Given the description of an element on the screen output the (x, y) to click on. 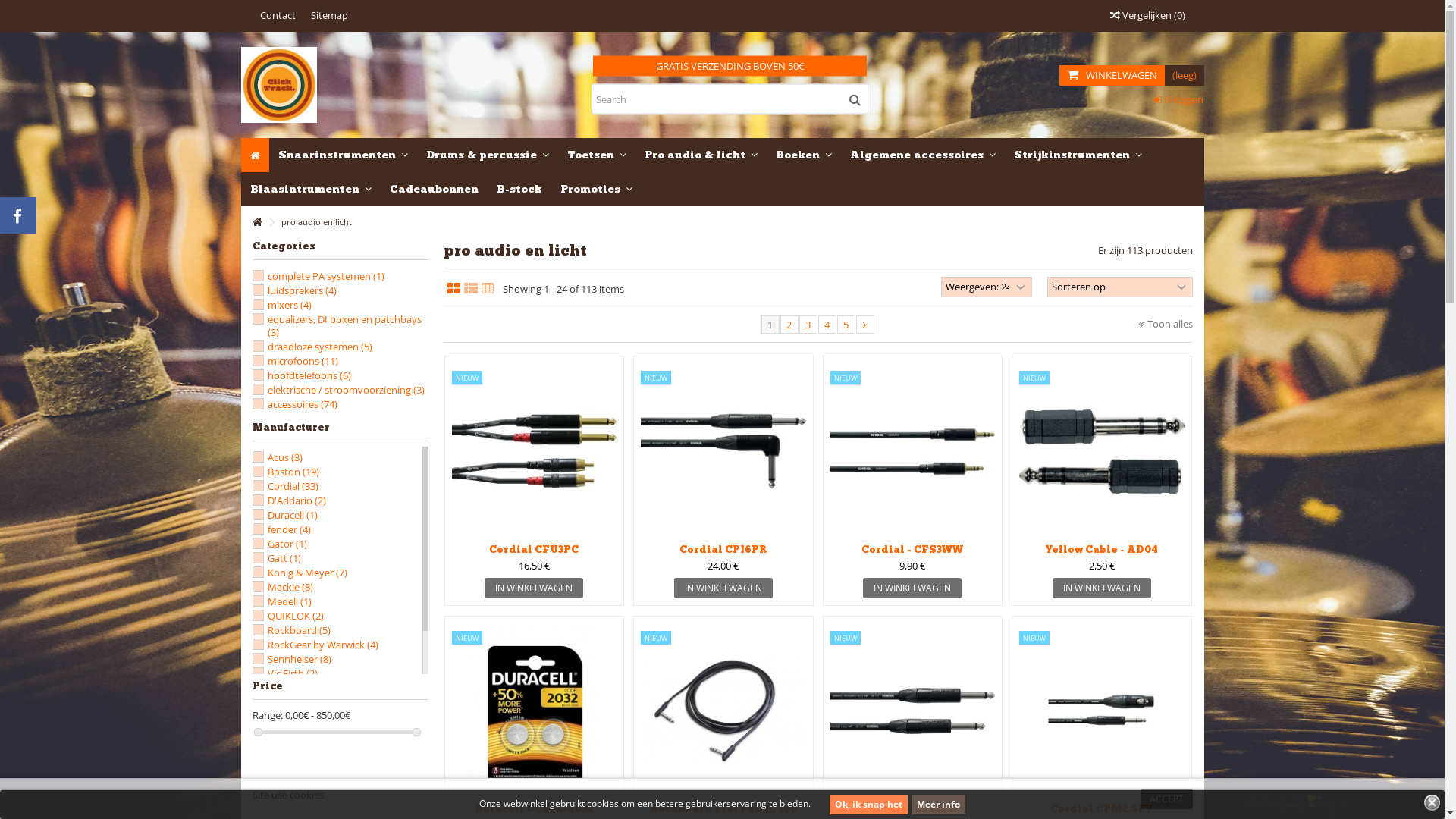
ACCEPT Element type: text (1166, 798)
Xvive (4) Element type: text (285, 687)
Meer info Element type: text (938, 804)
Cordial CPI9PP Element type: text (912, 809)
Table Element type: hover (486, 288)
hoofdtelefoons (6) Element type: text (308, 375)
Cordial CPM2.5FV Element type: text (1101, 809)
Yellow Cable - AD04 Element type: text (1101, 549)
5 Element type: text (846, 324)
mixers (4) Element type: text (288, 304)
Cordial - CFS3WW Element type: text (912, 549)
Inloggen Element type: text (1178, 99)
4 Element type: text (826, 324)
Cordial CPI6PR Element type: hover (723, 451)
Duracell DCELL-2032 Element type: text (533, 809)
Duracell (1) Element type: text (291, 514)
Lijst Element type: hover (470, 288)
Terug naar Home Element type: hover (255, 222)
fender (4) Element type: text (288, 529)
IN WINKELWAGEN Element type: text (1101, 587)
RockBoard Flat Patch, 300 cm Element type: hover (723, 711)
Cordial CPI6PR Element type: text (723, 549)
Drums & percussie Element type: text (487, 155)
IN WINKELWAGEN Element type: text (533, 587)
Pro audio & licht Element type: text (700, 155)
2 Element type: text (788, 324)
microfoons (11) Element type: text (301, 360)
Yellow Parts (3) Element type: text (300, 716)
Duracell DCELL-2032 Element type: hover (534, 711)
Toon alles Element type: text (1164, 323)
Vergelijken (0) Element type: text (1147, 15)
Promoties Element type: text (595, 189)
Rockboard (5) Element type: text (297, 630)
equalizers, DI boxen en patchbays (3) Element type: text (343, 325)
QUIKLOK (2) Element type: text (294, 615)
Raster Element type: hover (453, 288)
Toetsen Element type: text (596, 155)
draadloze systemen (5) Element type: text (318, 346)
Vic Firth (2) Element type: text (291, 673)
Cordial CFU3PC Element type: hover (534, 451)
Cordial (33) Element type: text (291, 485)
Sitemap Element type: text (329, 14)
Cordial - CFS3WW Element type: hover (911, 451)
Boston (19) Element type: text (292, 471)
B-stock Element type: text (518, 189)
Contact Element type: text (276, 14)
Gator (1) Element type: text (286, 543)
Cordial CPM2.5FV Element type: hover (1101, 711)
accessoires (74) Element type: text (301, 404)
Cordial CPI9PP Element type: hover (911, 711)
Yellow Cable (1) Element type: text (301, 702)
Strijkinstrumenten Element type: text (1077, 155)
elektrische / stroomvoorziening (3) Element type: text (344, 389)
Yellow Cable - AD04 Element type: hover (1101, 451)
Acus (3) Element type: text (283, 457)
D'Addario (2) Element type: text (295, 500)
luidsprekers (4) Element type: text (300, 290)
Konig & Meyer (7) Element type: text (306, 572)
Boeken Element type: text (802, 155)
Algemene accessoires Element type: text (922, 155)
Blaasintrumenten Element type: text (310, 189)
Gatt (1) Element type: text (283, 557)
Cordial CFU3PC Element type: text (533, 549)
Cadeaubonnen Element type: text (433, 189)
Medeli (1) Element type: text (288, 601)
IN WINKELWAGEN Element type: text (911, 587)
3 Element type: text (808, 324)
Snaarinstrumenten Element type: text (342, 155)
Mackie (8) Element type: text (289, 586)
complete PA systemen (1) Element type: text (324, 275)
Sennheiser (8) Element type: text (298, 658)
RockGear by Warwick (4) Element type: text (321, 644)
IN WINKELWAGEN Element type: text (723, 587)
WINKELWAGEN (leeg) Element type: text (1130, 75)
